Given the description of an element on the screen output the (x, y) to click on. 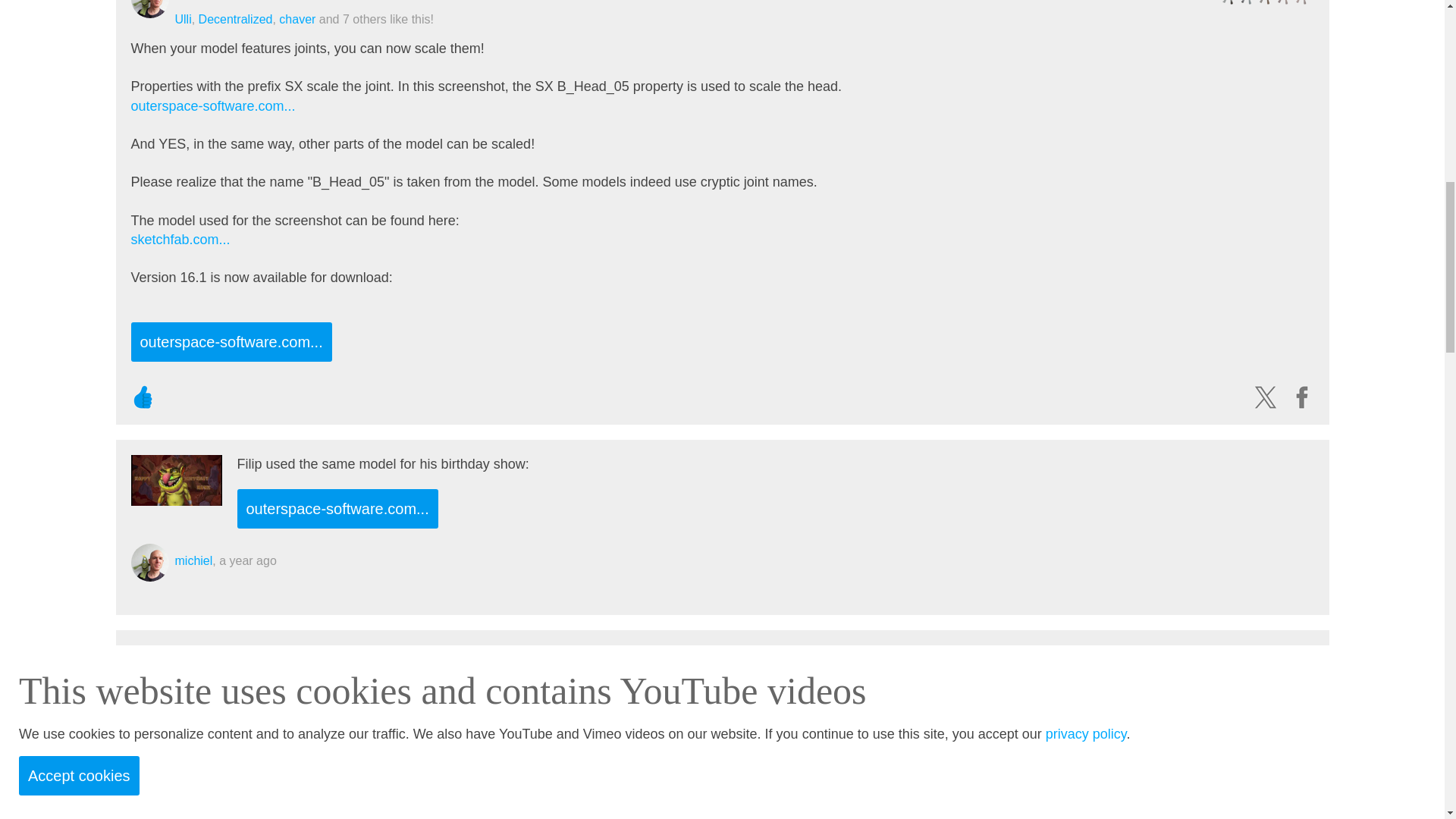
outerspace-software.com... (231, 341)
Ulli (182, 19)
Share this on X (1264, 396)
sketchfab.com... (180, 239)
outerspace-software.com... (213, 105)
chaver (297, 19)
I like this (142, 396)
Decentralized (235, 19)
Share this on Facebook (1300, 396)
